Given the description of an element on the screen output the (x, y) to click on. 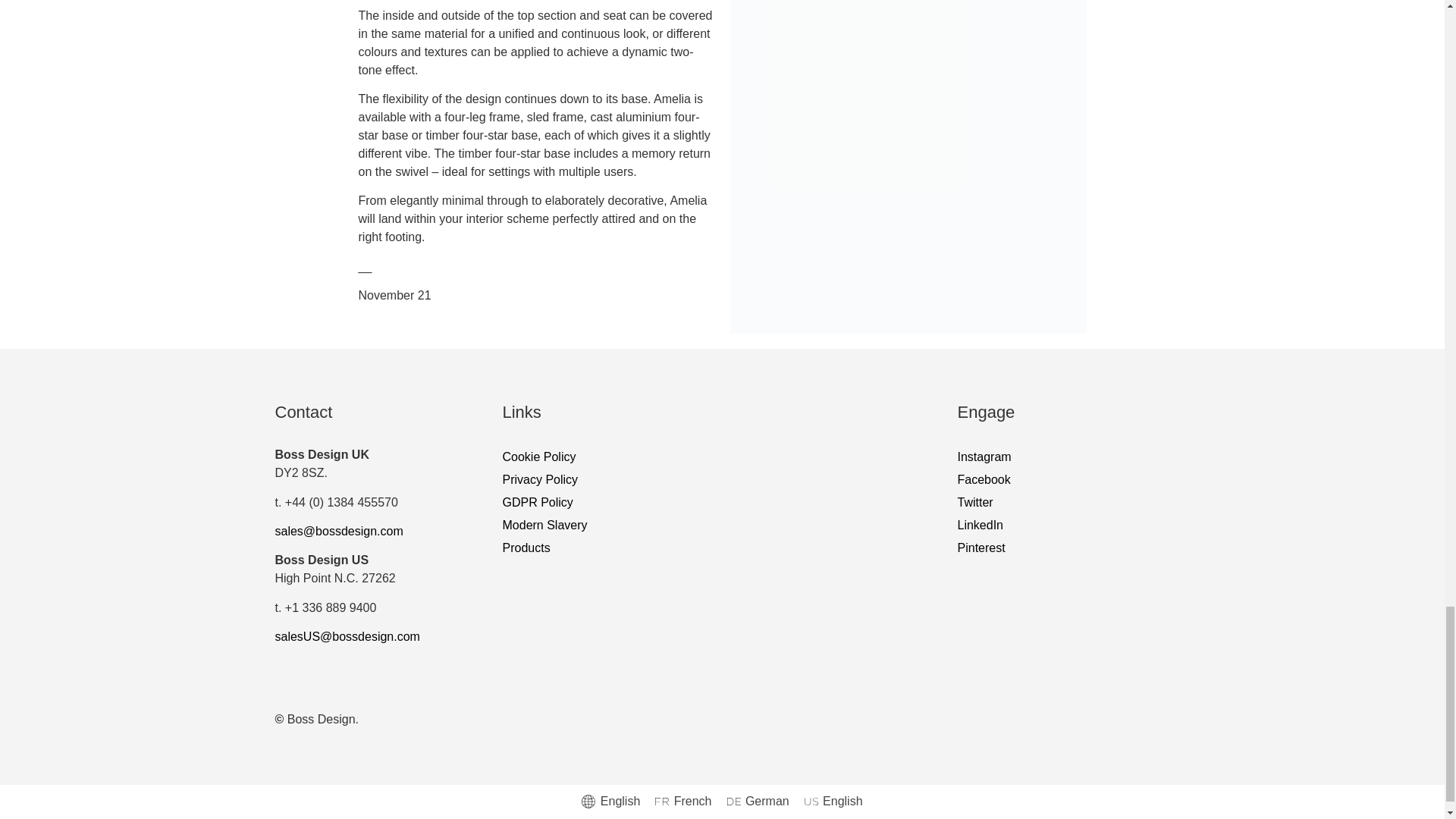
Twitter (1061, 502)
Pinterest (1061, 548)
English (833, 801)
Cookie Policy (722, 456)
GDPR Policy (722, 502)
English (610, 802)
German (757, 801)
Instagram (1061, 456)
Privacy Policy (722, 479)
French (683, 801)
Facebook (1061, 479)
Products (722, 548)
Modern Slavery (722, 525)
LinkedIn (1061, 525)
